Given the description of an element on the screen output the (x, y) to click on. 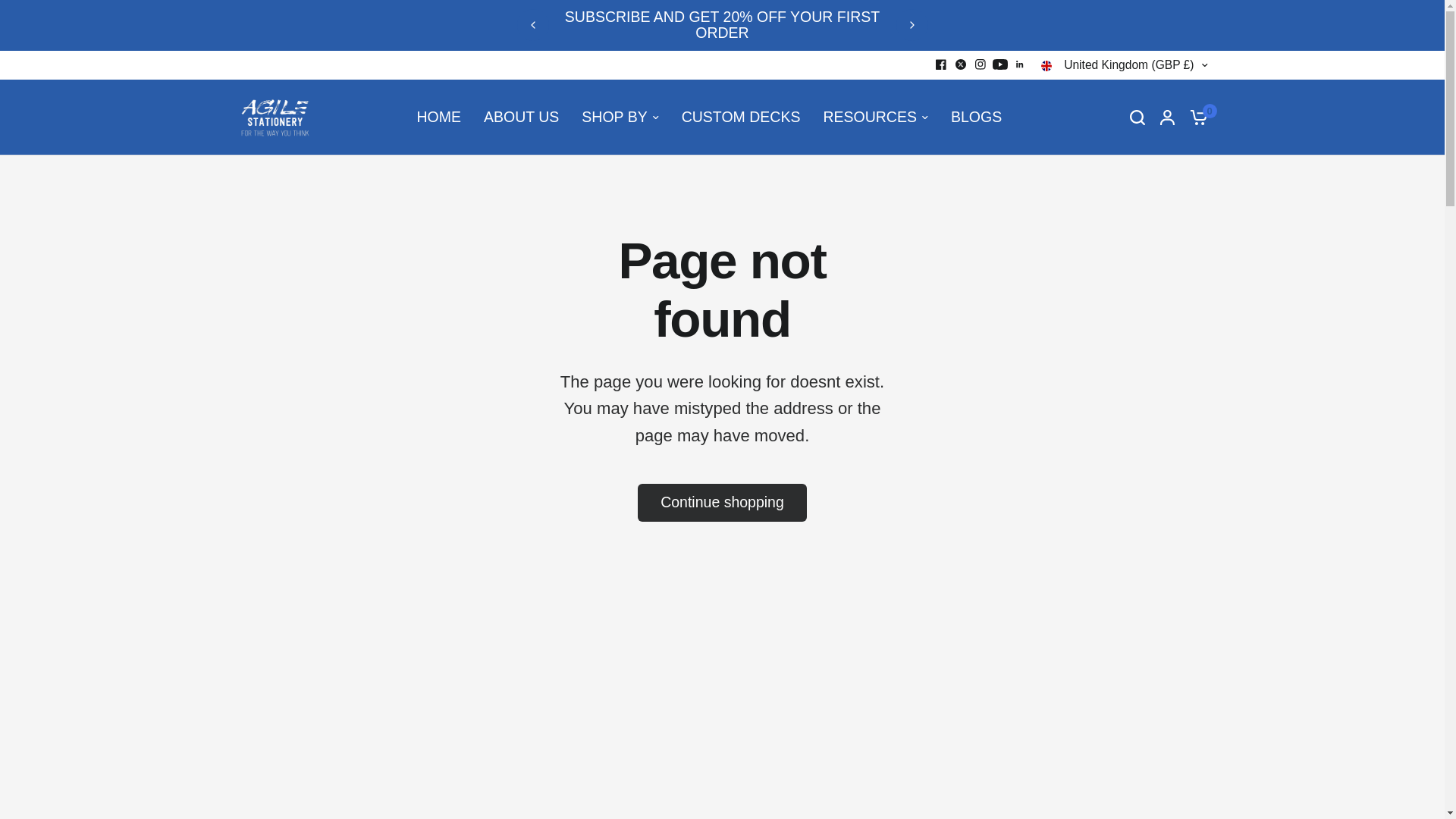
YouTube (1000, 64)
Facebook (940, 64)
X (960, 64)
Instagram (980, 64)
Linkedin (1019, 64)
